Given the description of an element on the screen output the (x, y) to click on. 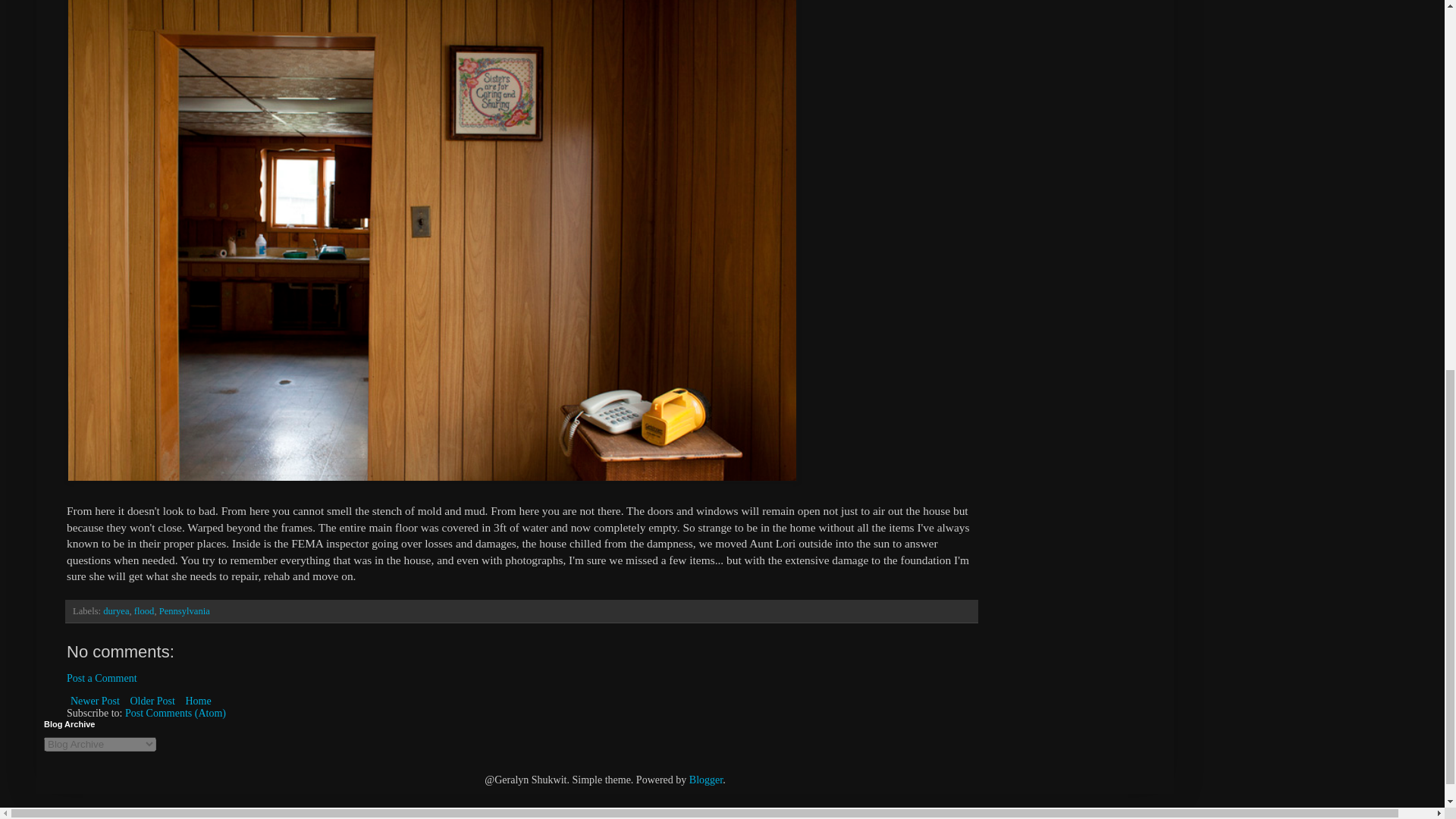
flood (143, 611)
Home (197, 700)
Older Post (152, 700)
Newer Post (94, 700)
Post a Comment (101, 677)
Blogger (705, 779)
Newer Post (94, 700)
Older Post (152, 700)
Pennsylvania (183, 611)
duryea (116, 611)
